Given the description of an element on the screen output the (x, y) to click on. 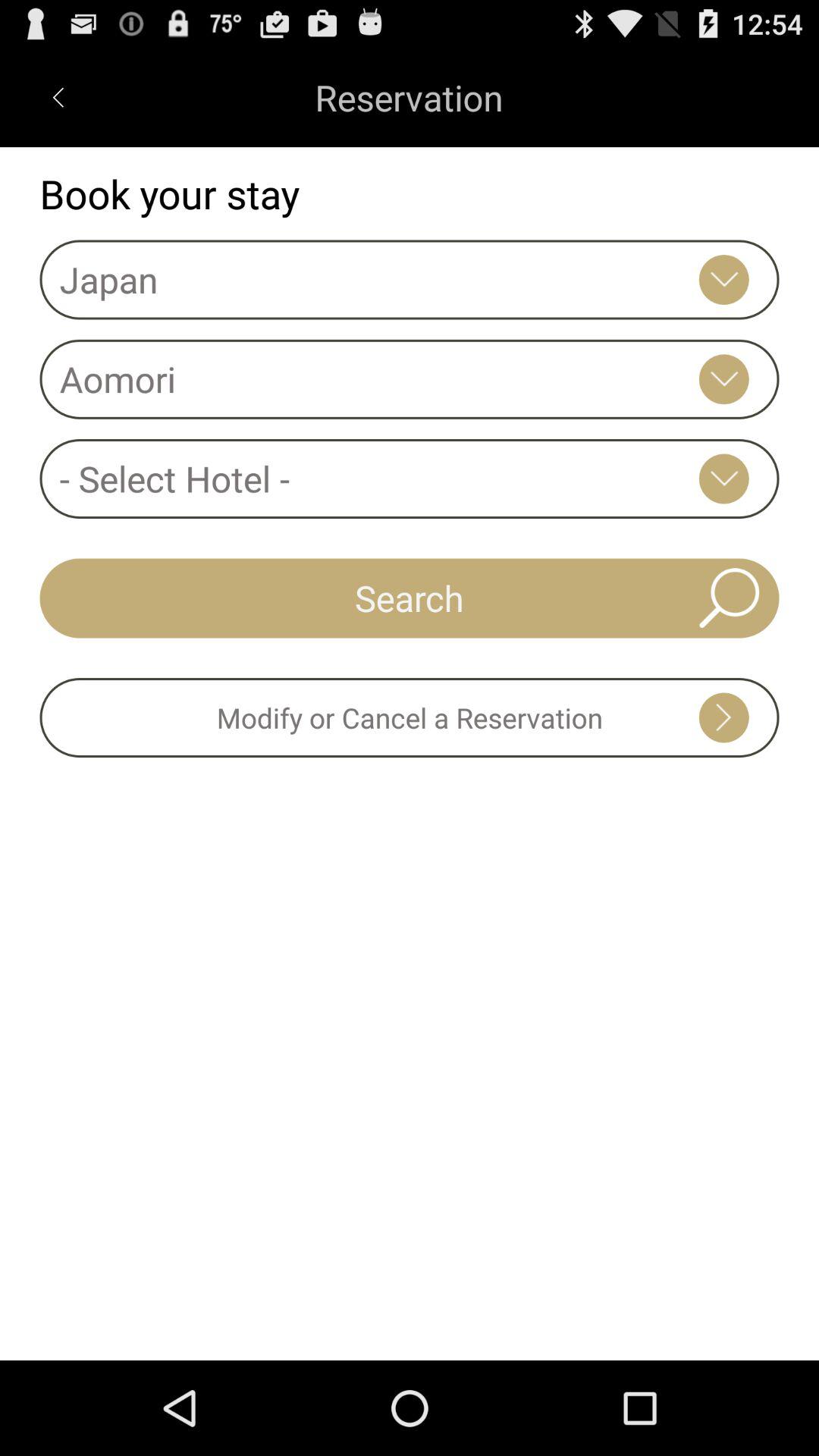
go back (57, 97)
